Given the description of an element on the screen output the (x, y) to click on. 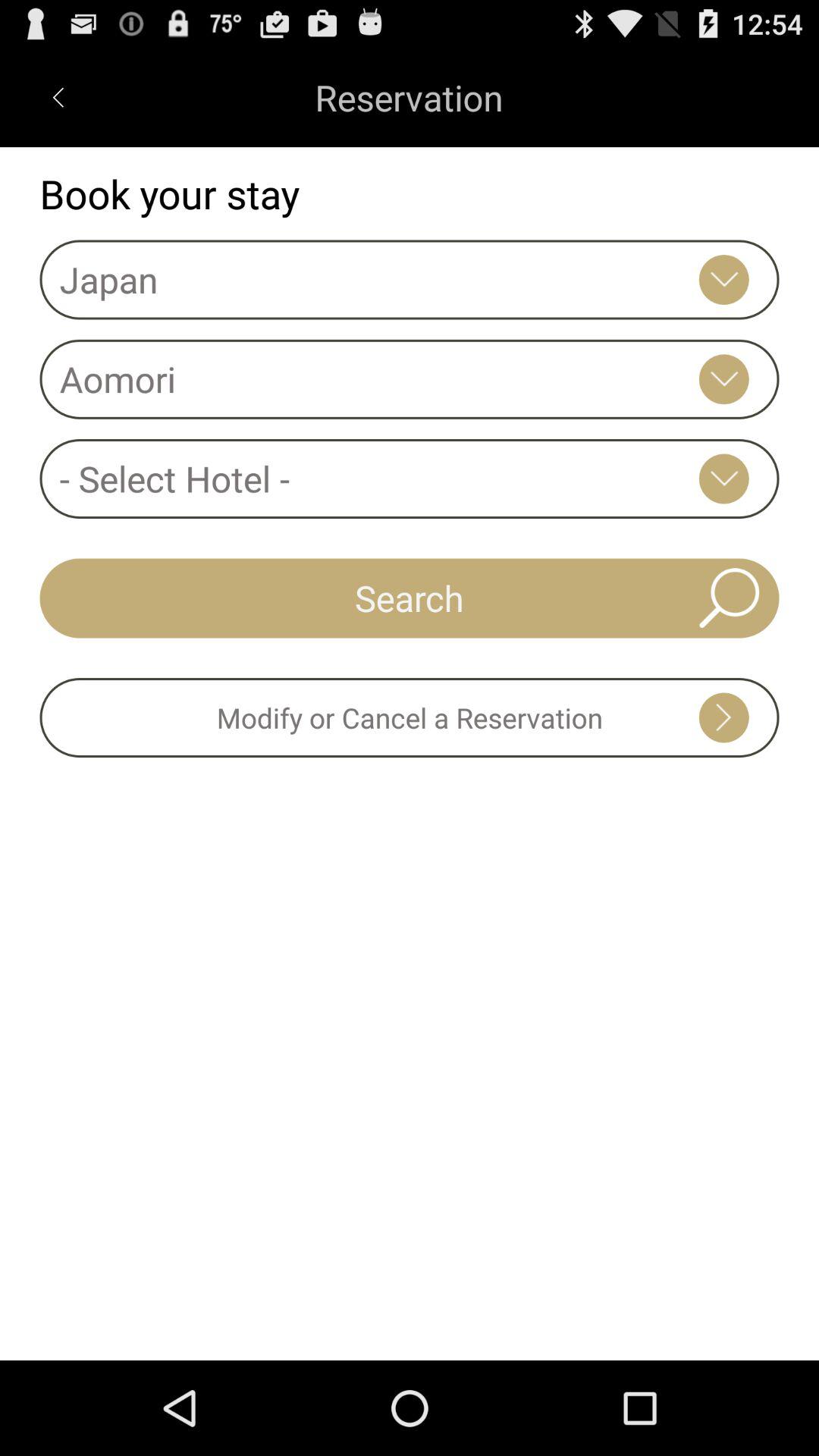
go back (57, 97)
